Given the description of an element on the screen output the (x, y) to click on. 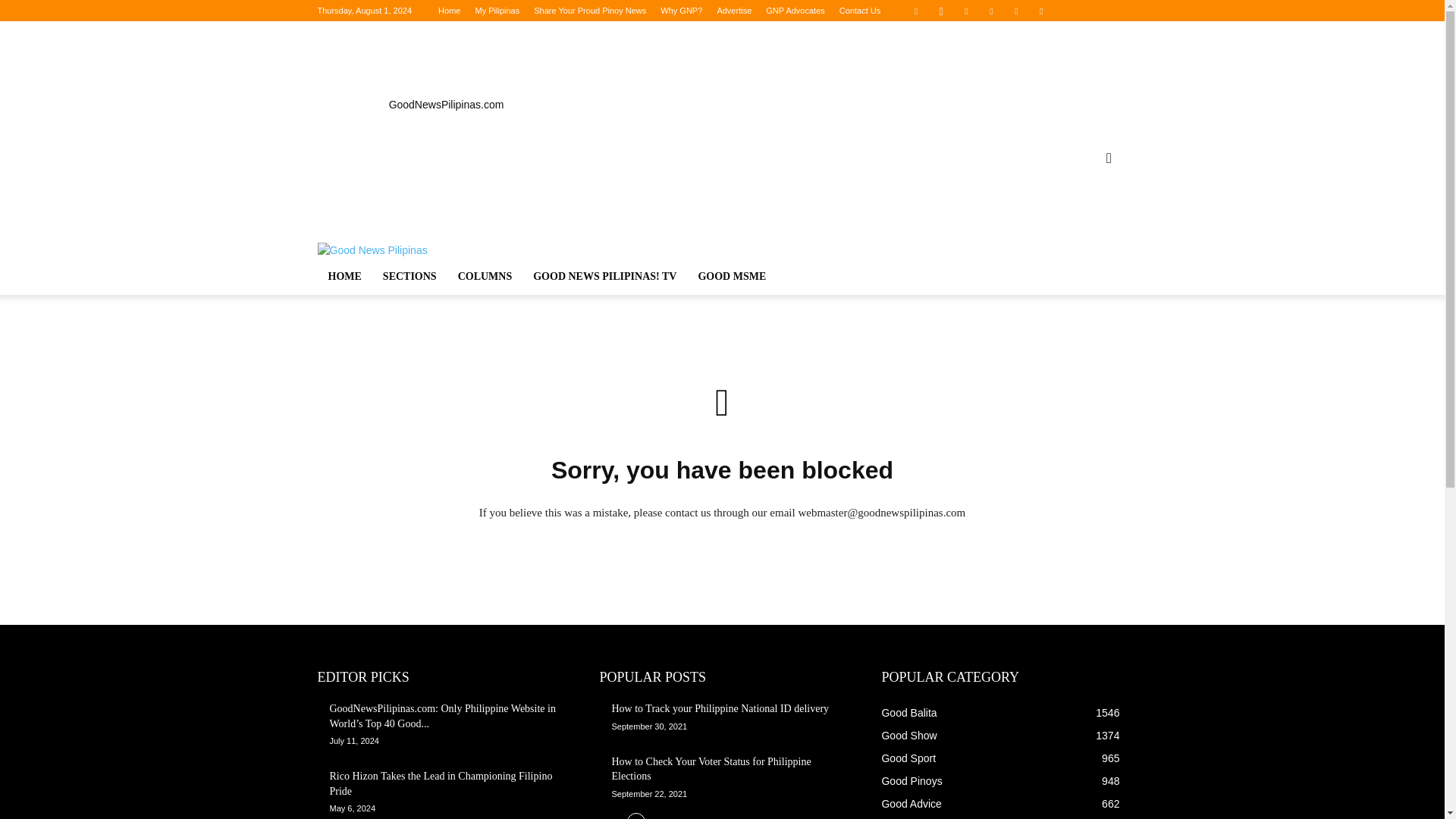
Linkedin (965, 10)
Home (449, 10)
Twitter (1041, 10)
Instagram (941, 10)
Mail (991, 10)
My Pilipinas (497, 10)
Good News Pilipinas (445, 67)
TikTok (1016, 10)
Good News Pilipinas (371, 250)
Facebook (915, 10)
